Given the description of an element on the screen output the (x, y) to click on. 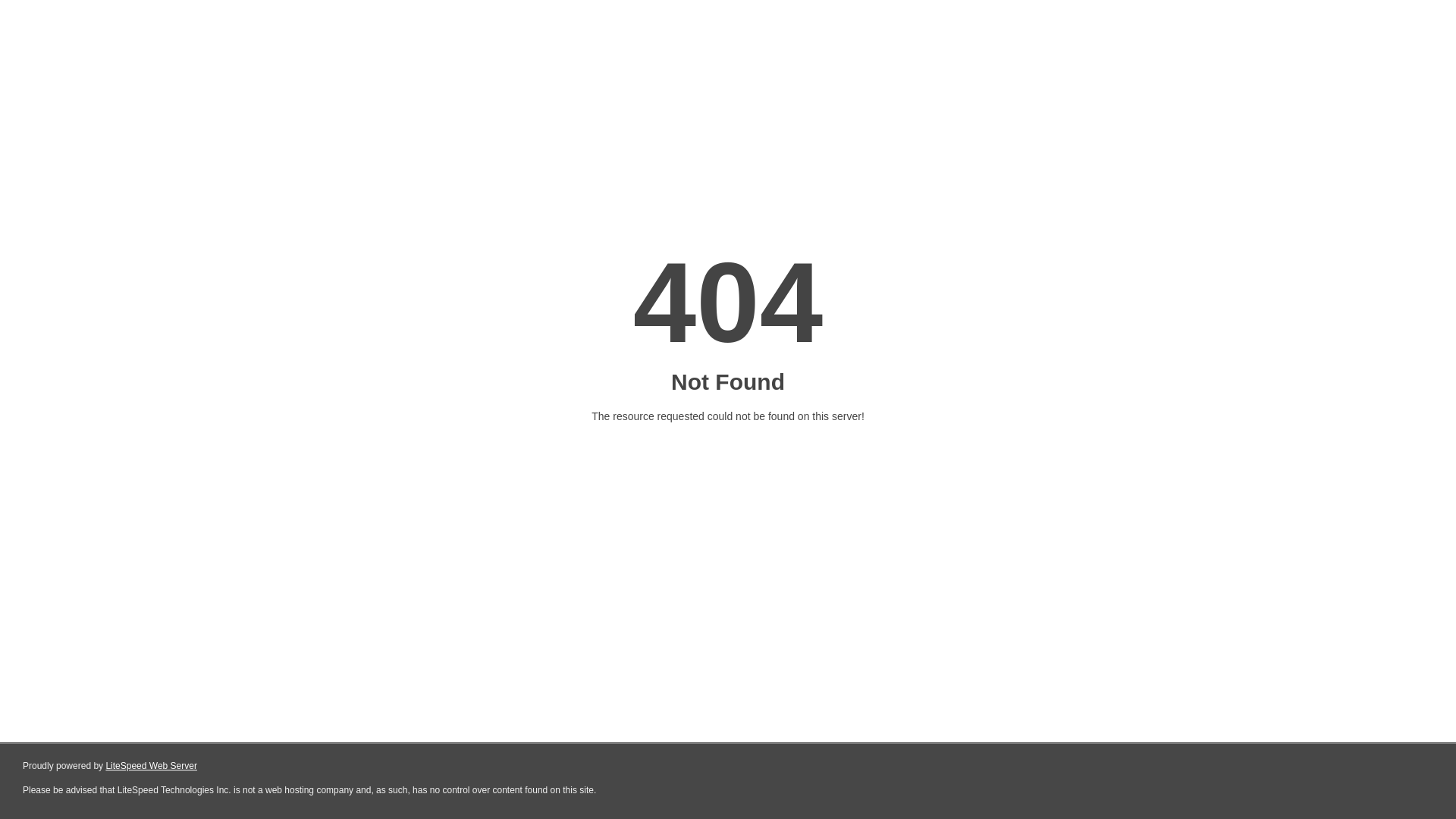
LiteSpeed Web Server Element type: text (151, 765)
